Given the description of an element on the screen output the (x, y) to click on. 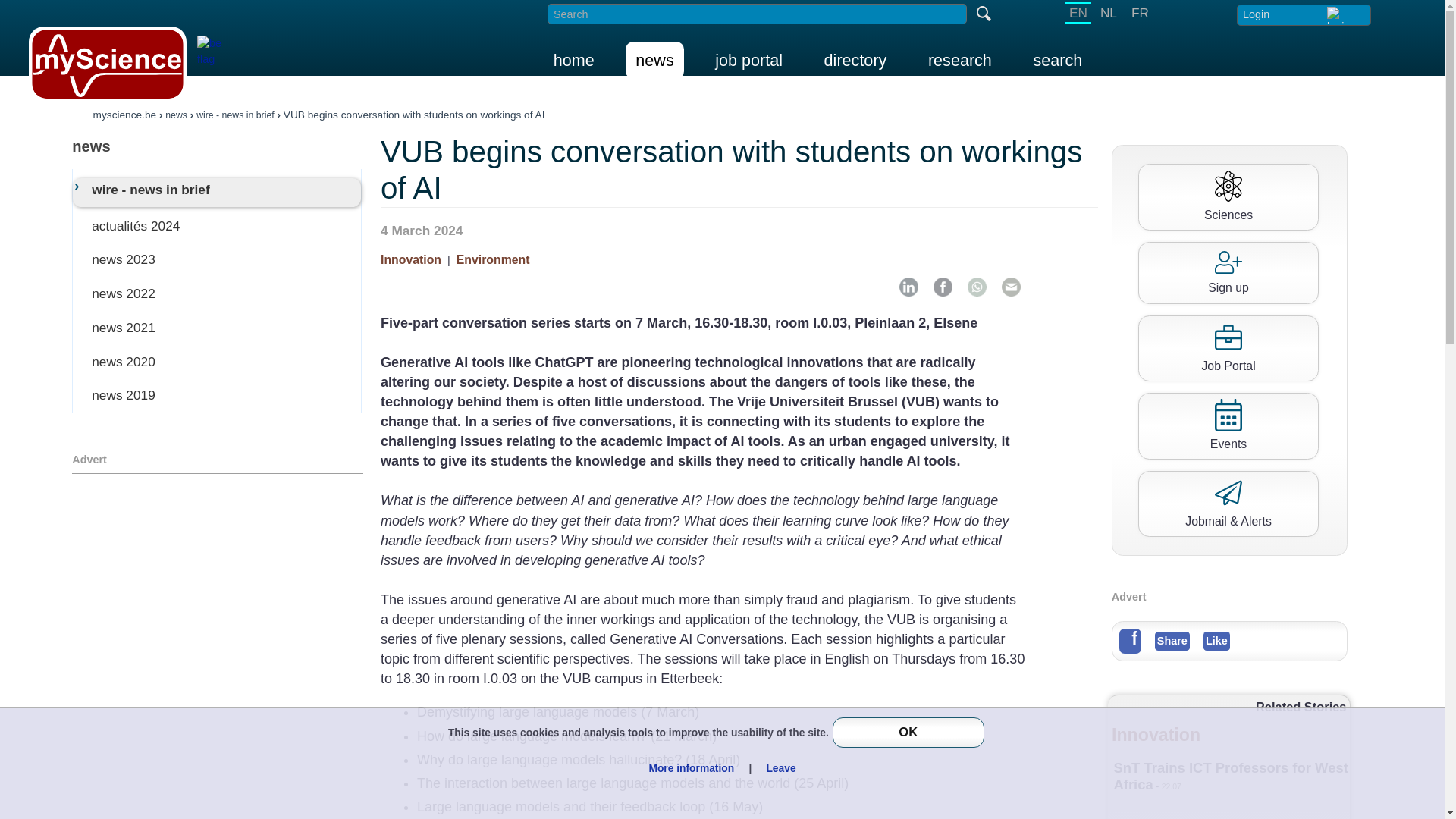
VUB begins conversation with students on workings of AI (413, 114)
Login (1303, 14)
home (573, 59)
Nederlands (1108, 12)
news (654, 59)
directory (854, 59)
job portal (748, 59)
search (1057, 59)
Send by Email (1011, 287)
myscience.be (125, 114)
FR (1139, 12)
EN (1077, 12)
Share on Facebook (942, 287)
NL (1108, 12)
English (1077, 12)
